Given the description of an element on the screen output the (x, y) to click on. 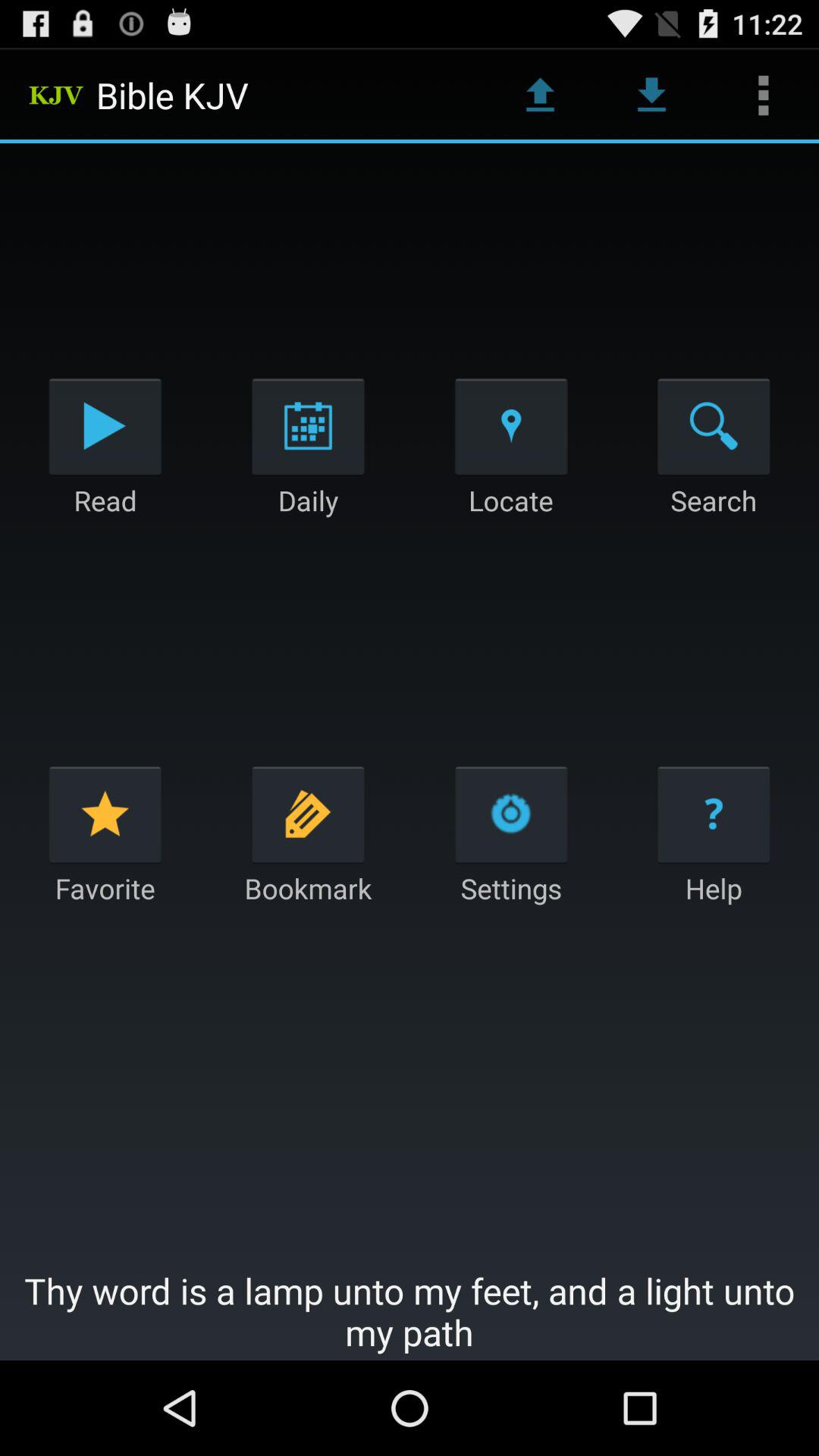
turn on the icon next to bible kjv (540, 95)
